Given the description of an element on the screen output the (x, y) to click on. 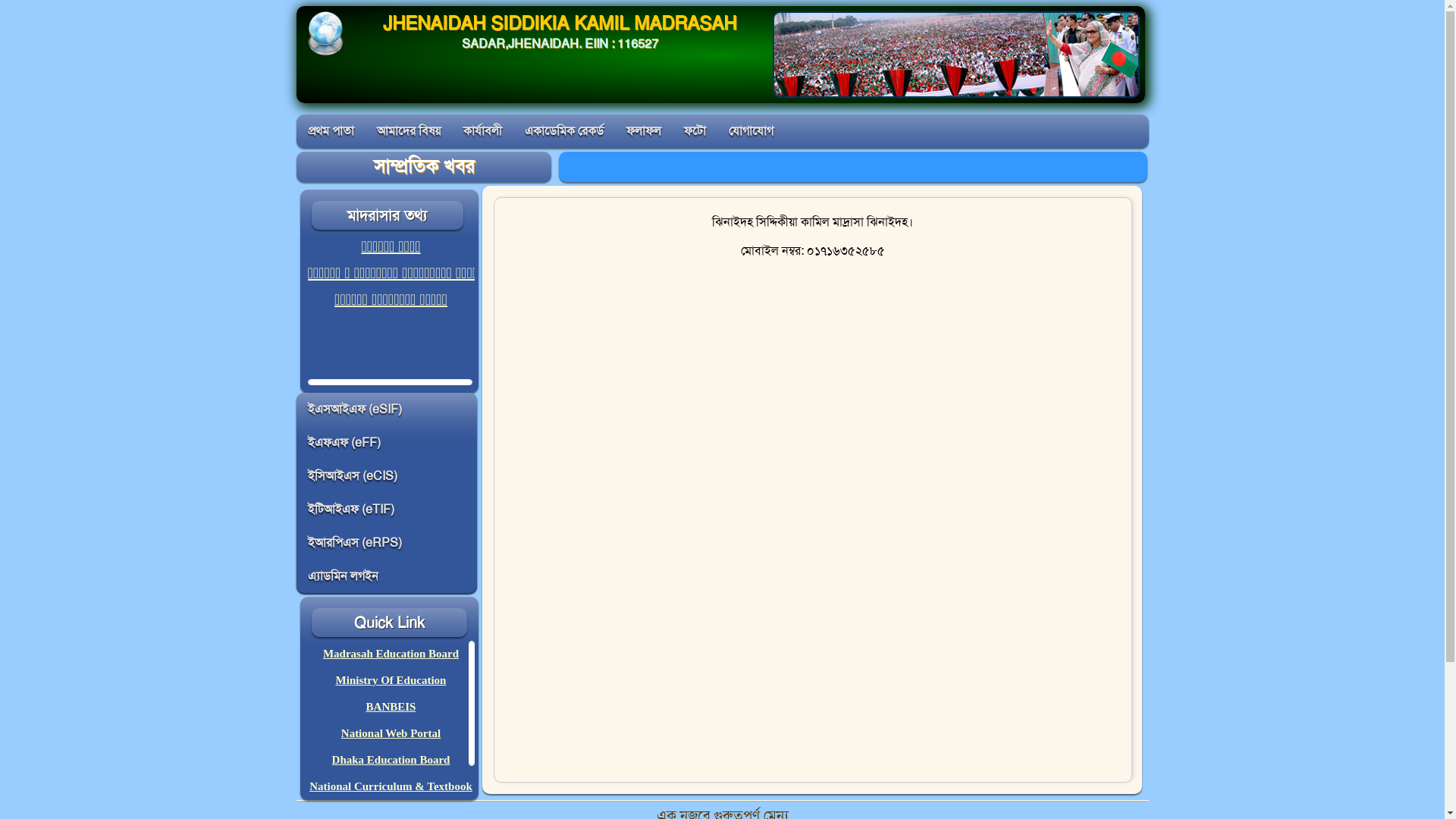
Ministry Of Education Element type: text (390, 680)
Madrasah Education Board Element type: text (390, 653)
BANBEIS Element type: text (391, 706)
National Web Portal Element type: text (390, 733)
National Curriculum & Textbook Element type: text (390, 786)
Dhaka Education Board Element type: text (391, 759)
